Given the description of an element on the screen output the (x, y) to click on. 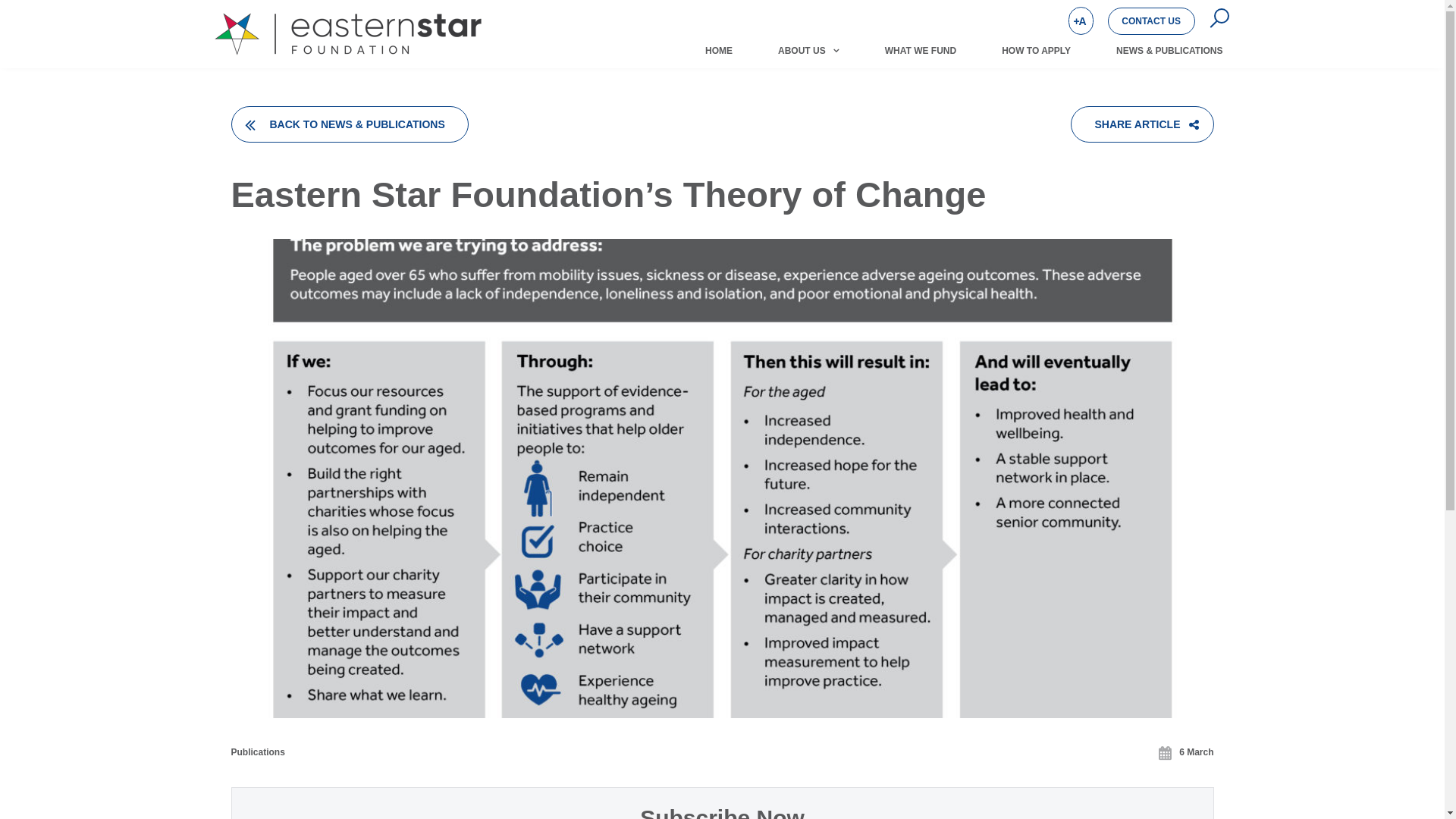
+A Element type: text (1080, 20)
WHAT WE FUND Element type: text (920, 50)
CONTACT US Element type: text (1151, 20)
Search Element type: text (1133, 34)
HOW TO APPLY Element type: text (1036, 50)
SHARE ARTICLE Element type: text (1141, 124)
HOME Element type: text (718, 50)
ABOUT US Element type: text (808, 50)
NEWS & PUBLICATIONS Element type: text (1169, 50)
BACK TO NEWS & PUBLICATIONS Element type: text (348, 124)
